Given the description of an element on the screen output the (x, y) to click on. 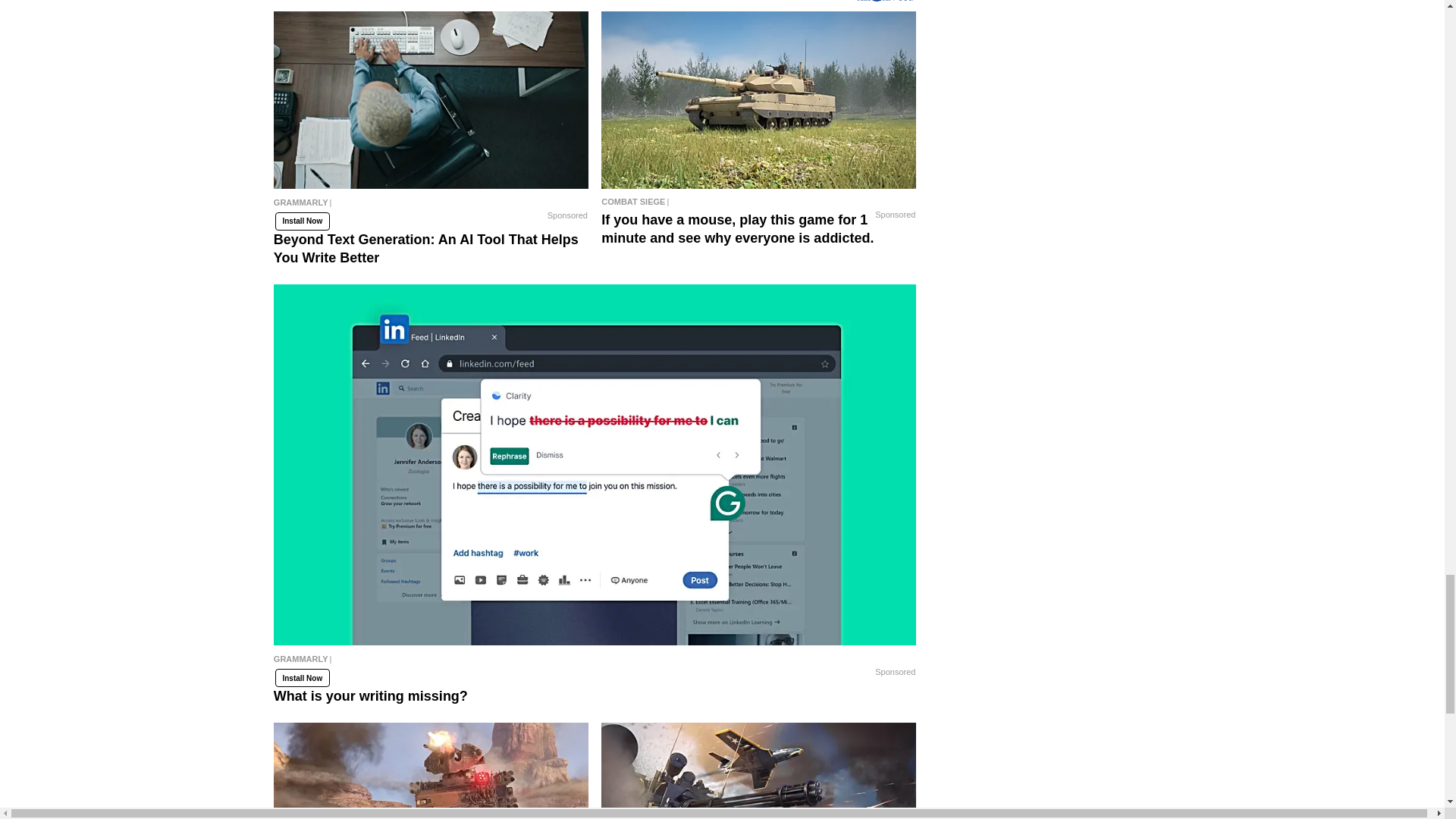
What is your writing missing? (595, 662)
Crossout: New Apocalyptic MMO (430, 770)
Sponsored (567, 216)
Play War Thunder now for free (758, 770)
